Given the description of an element on the screen output the (x, y) to click on. 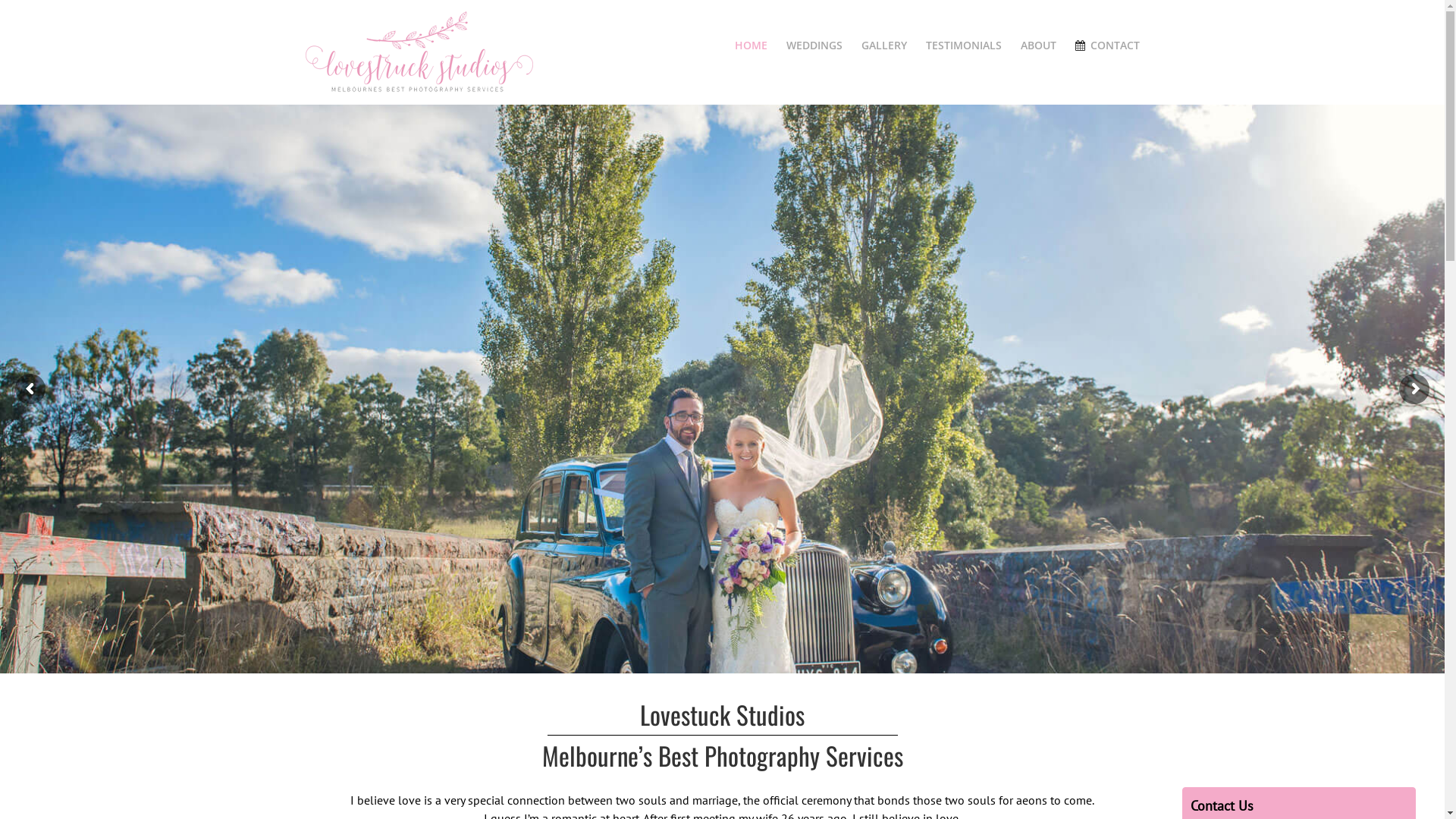
GALLERY Element type: text (883, 45)
ABOUT Element type: text (1038, 45)
HOME Element type: text (750, 45)
TESTIMONIALS Element type: text (963, 45)
CONTACT Element type: text (1107, 45)
WEDDINGS Element type: text (814, 45)
